Given the description of an element on the screen output the (x, y) to click on. 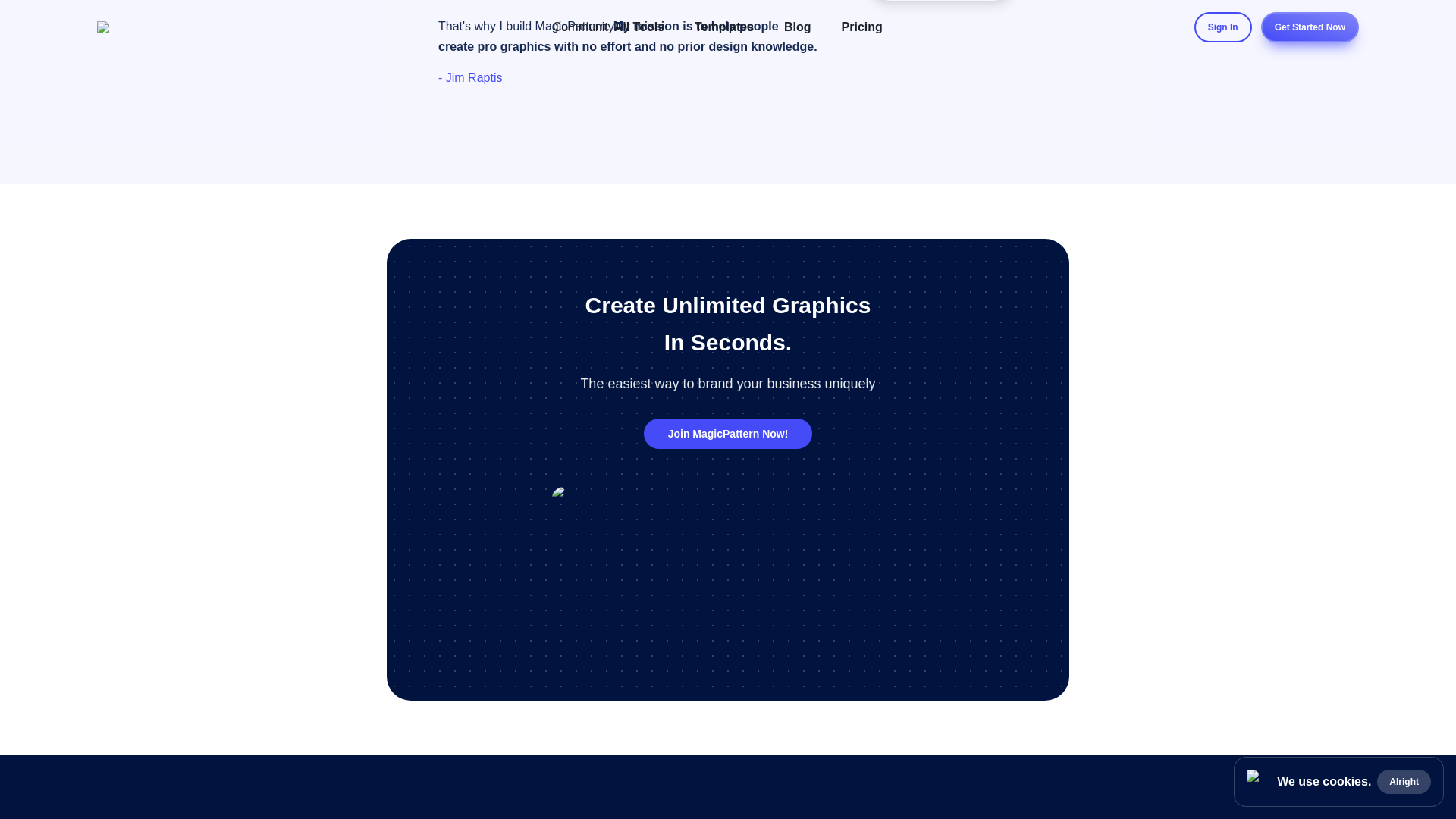
Join MagicPattern Now! (727, 433)
- Jim Raptis (470, 77)
